Given the description of an element on the screen output the (x, y) to click on. 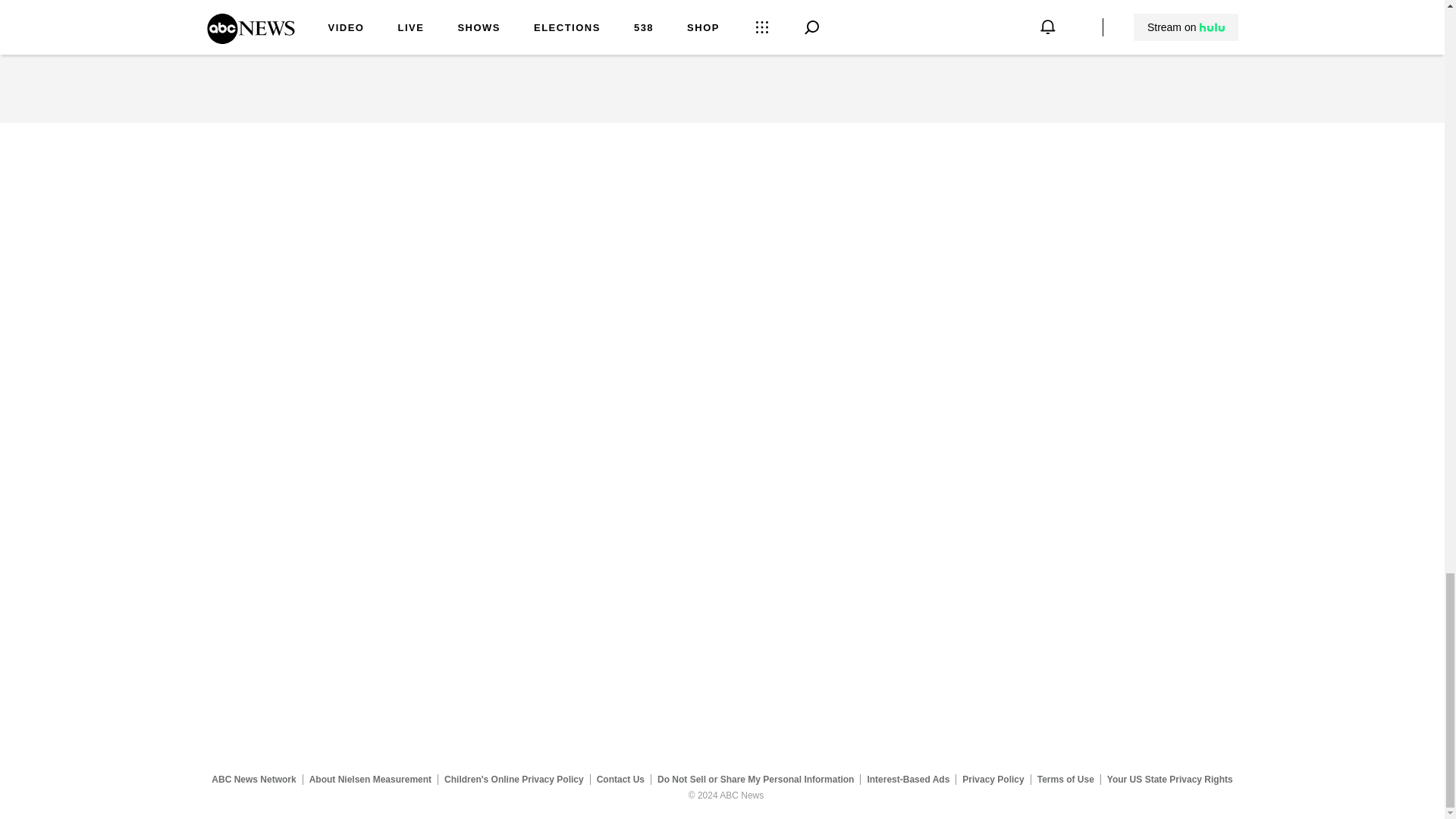
Children's Online Privacy Policy (514, 778)
Contact Us (620, 778)
ABC News Network (253, 778)
About Nielsen Measurement (370, 778)
Do Not Sell or Share My Personal Information (755, 778)
